Given the description of an element on the screen output the (x, y) to click on. 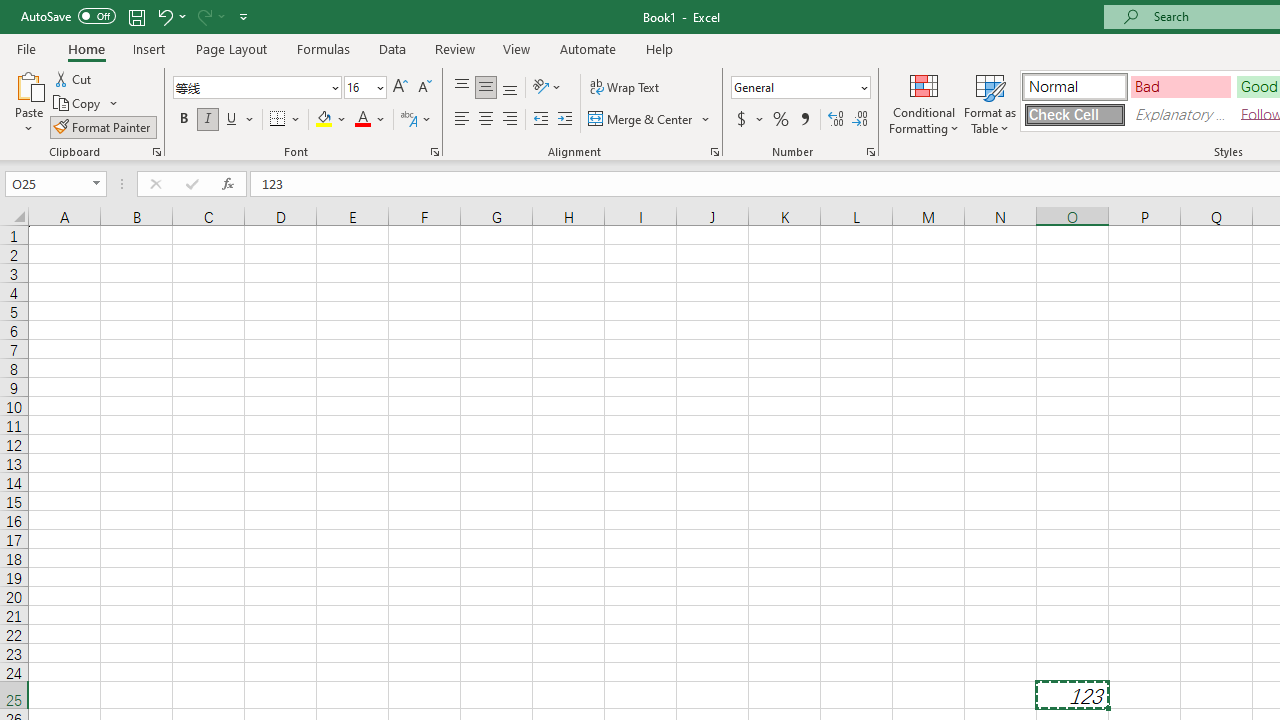
Number Format (794, 87)
Decrease Font Size (424, 87)
Undo (170, 15)
Font (256, 87)
Font Color (370, 119)
Show Phonetic Field (408, 119)
Undo (164, 15)
Format Painter (103, 126)
Page Layout (230, 48)
Customize Quick Access Toolbar (244, 15)
Font (250, 87)
Align Right (509, 119)
Font Size (358, 87)
Data (392, 48)
Comma Style (804, 119)
